Given the description of an element on the screen output the (x, y) to click on. 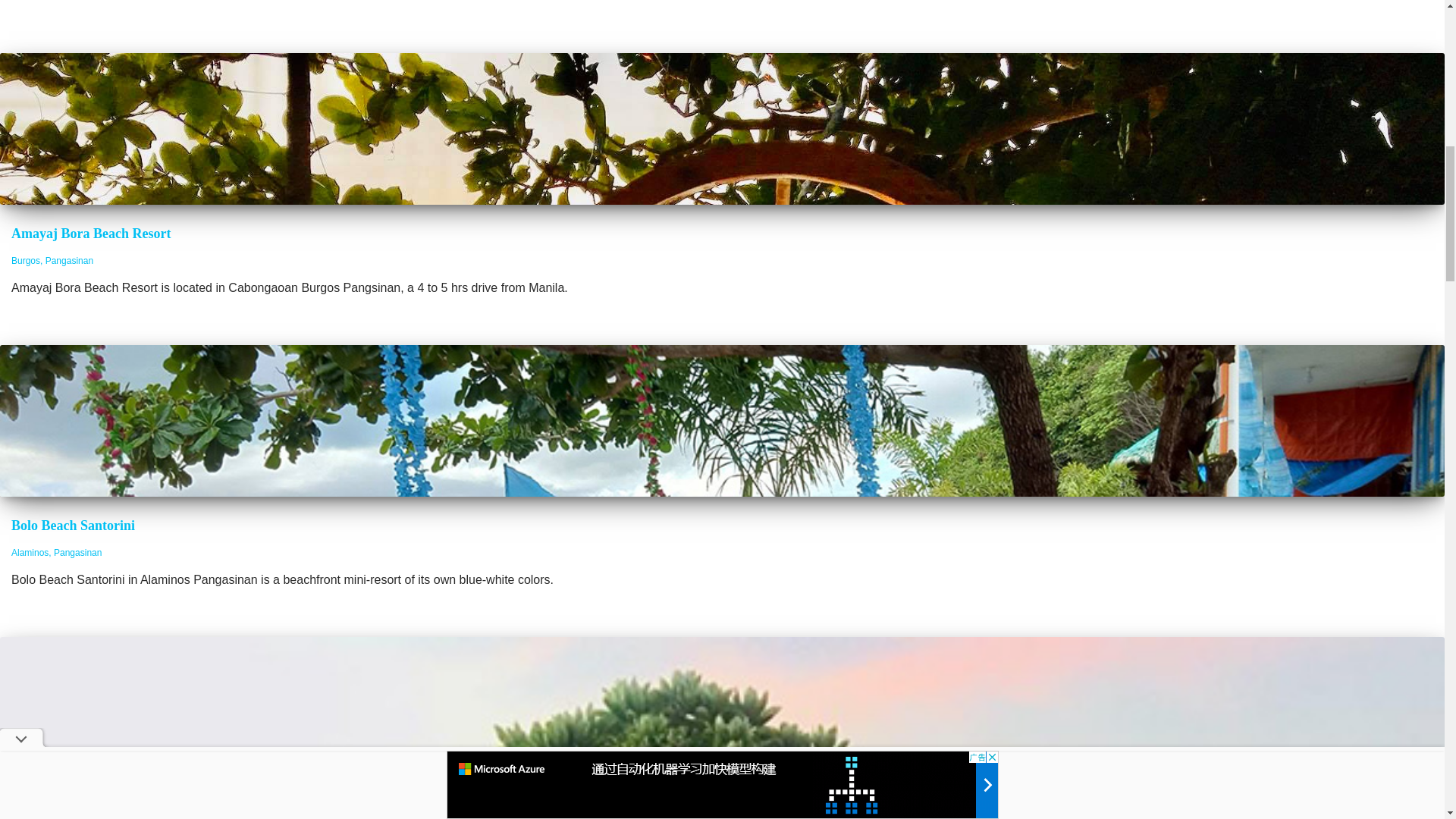
Amayaj Bora Beach Resort (90, 233)
Casa Carolina Beach Resort (93, 814)
Burgos, Pangasinan (52, 260)
Alaminos, Pangasinan (56, 552)
Bolo Beach Santorini (73, 525)
